Given the description of an element on the screen output the (x, y) to click on. 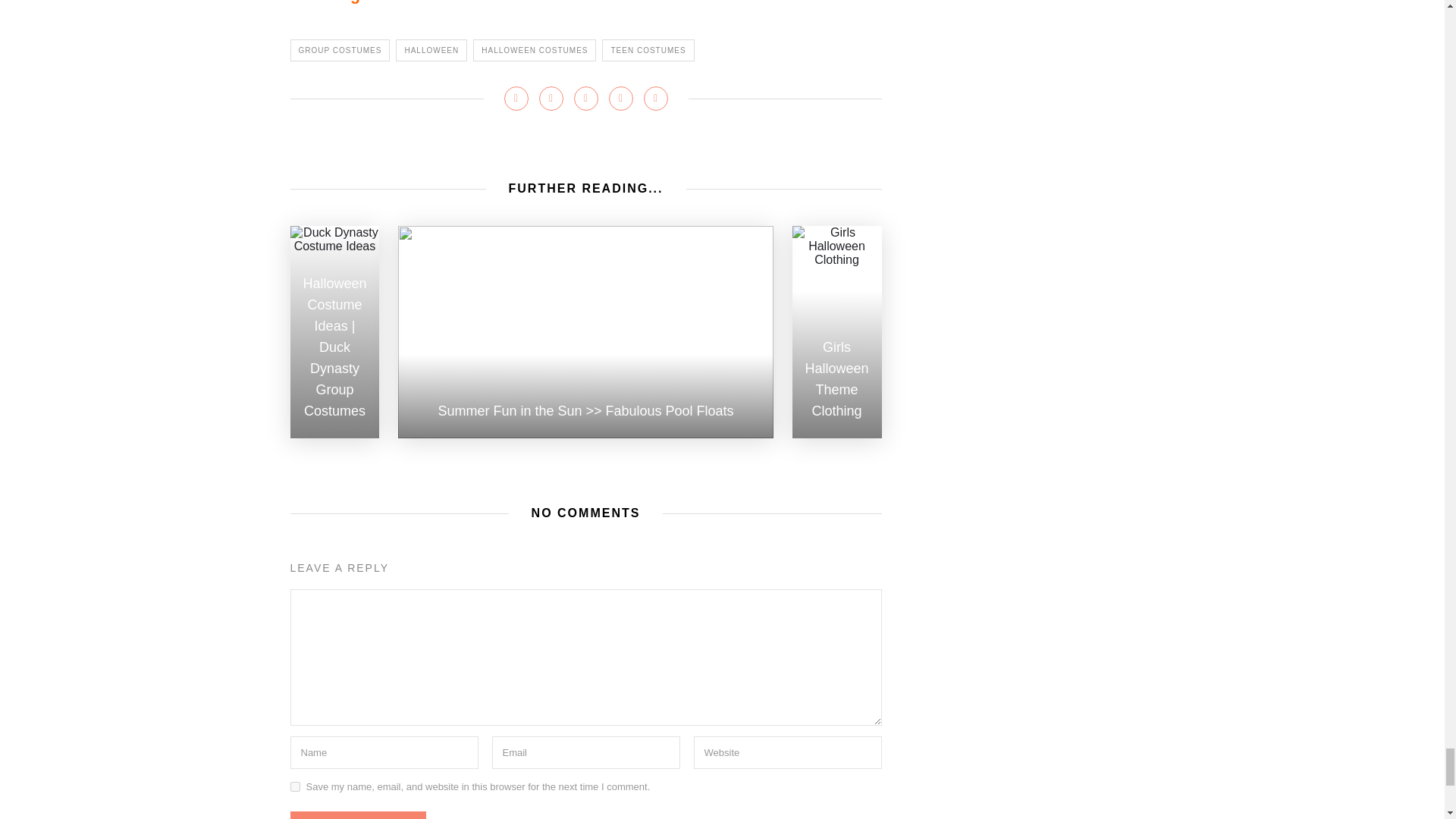
Post Comment (357, 815)
yes (294, 786)
